Given the description of an element on the screen output the (x, y) to click on. 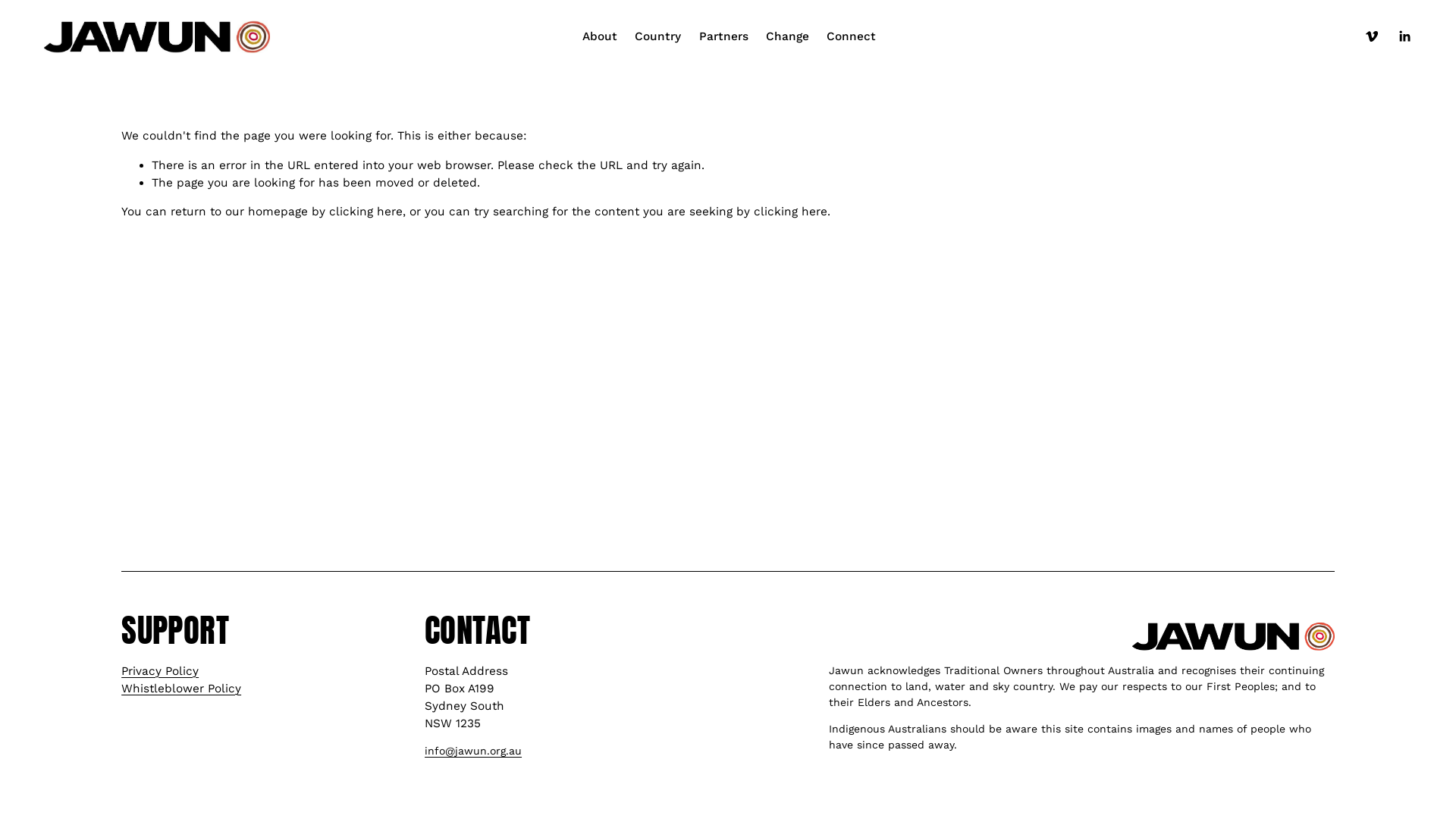
clicking here Element type: text (365, 211)
Country Element type: text (657, 36)
About Element type: text (599, 36)
Change Element type: text (787, 36)
info@jawun.org.au Element type: text (472, 751)
Whistleblower Policy Element type: text (181, 688)
clicking here Element type: text (790, 211)
Partners Element type: text (723, 36)
Privacy Policy Element type: text (159, 671)
Connect Element type: text (850, 36)
